Given the description of an element on the screen output the (x, y) to click on. 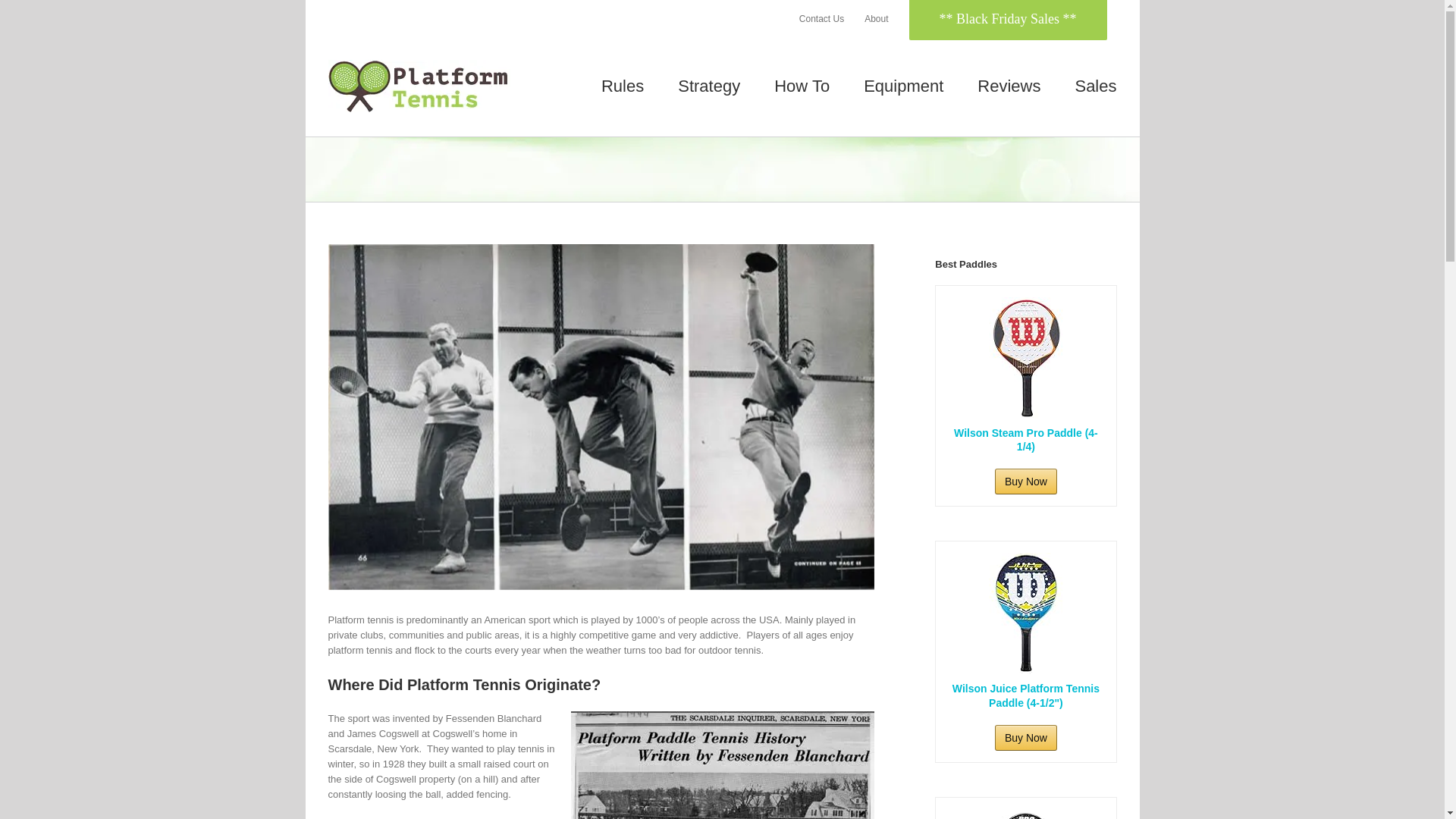
Buy Now (1025, 481)
About (876, 19)
Contact Us (821, 19)
